Given the description of an element on the screen output the (x, y) to click on. 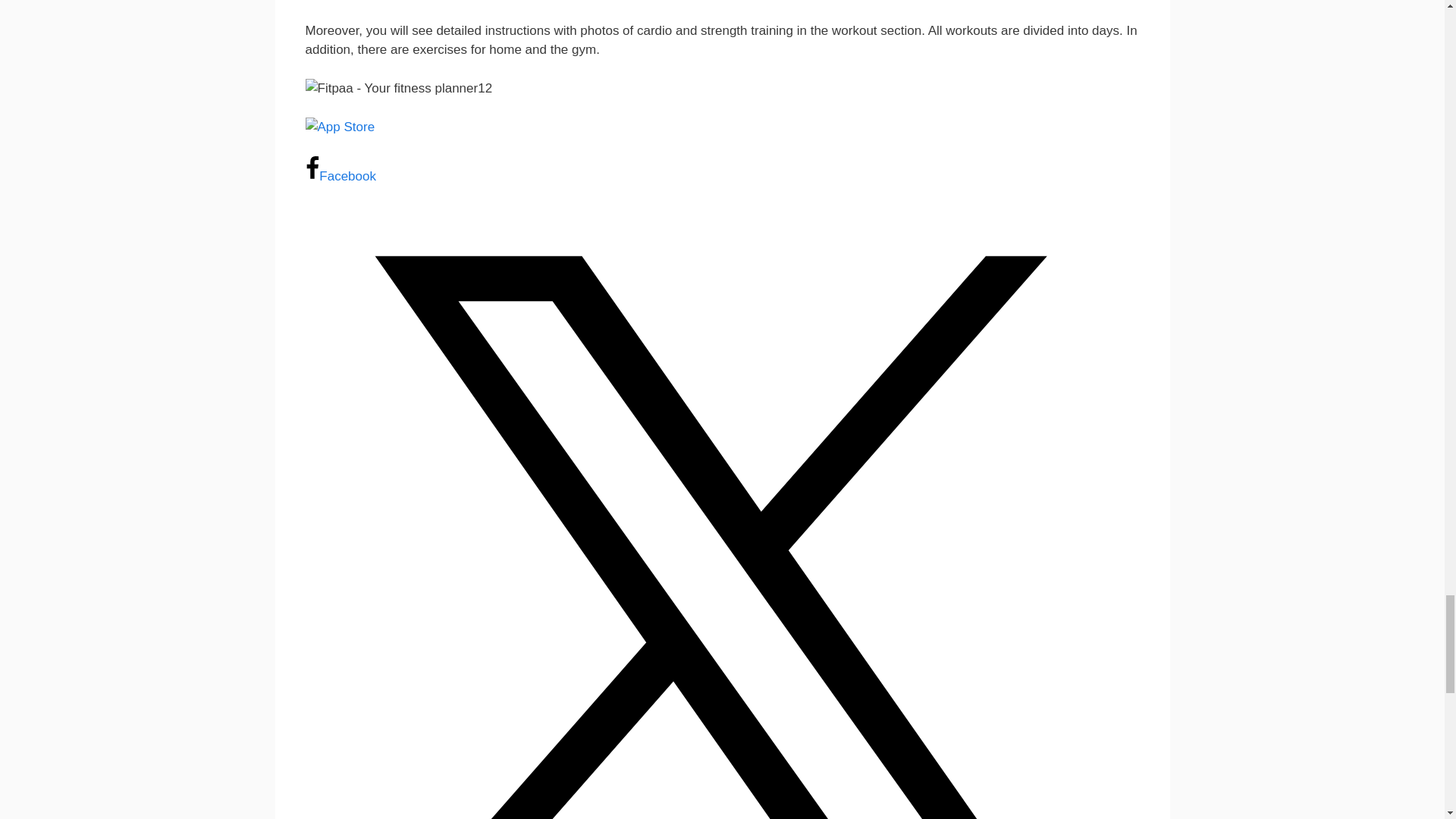
Share on Facebook (339, 175)
Facebook (339, 175)
